Given the description of an element on the screen output the (x, y) to click on. 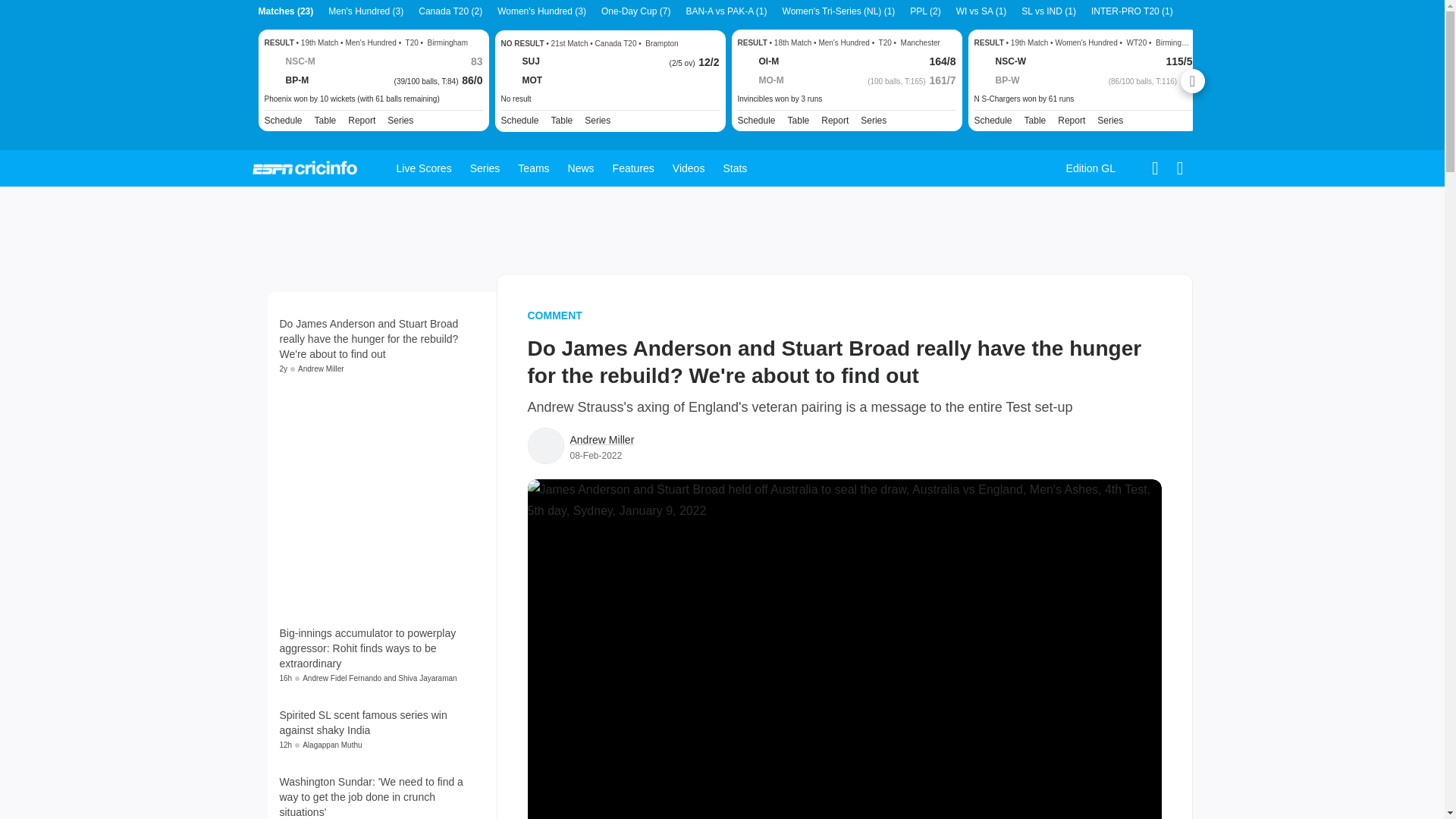
Schedule (755, 120)
Report (361, 120)
The Hundred Men's Competition (873, 120)
Report (834, 120)
Series (400, 120)
Schedule (519, 120)
Series (873, 120)
NSC-M (288, 61)
Table (562, 120)
Series (597, 120)
Schedule (755, 120)
MOT (520, 79)
SUJ (519, 61)
MO-M (759, 79)
BP-M (285, 79)
